Given the description of an element on the screen output the (x, y) to click on. 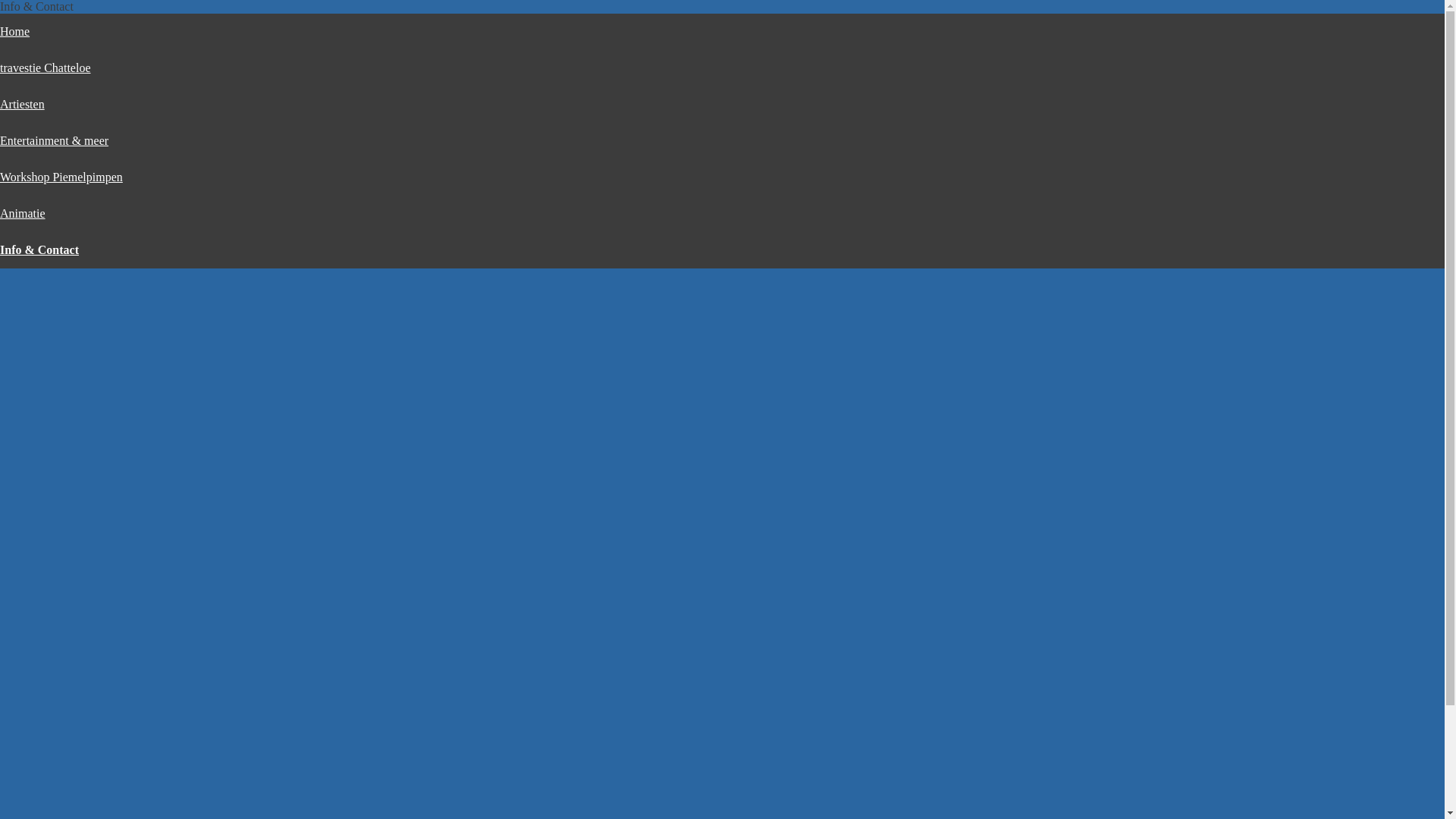
travestie Chatteloe Element type: text (45, 67)
Animatie Element type: text (22, 213)
Entertainment & meer Element type: text (54, 140)
Workshop Piemelpimpen Element type: text (61, 176)
Artiesten Element type: text (22, 103)
Info & Contact Element type: text (39, 249)
Verder Element type: text (577, 627)
Home Element type: text (14, 31)
